Given the description of an element on the screen output the (x, y) to click on. 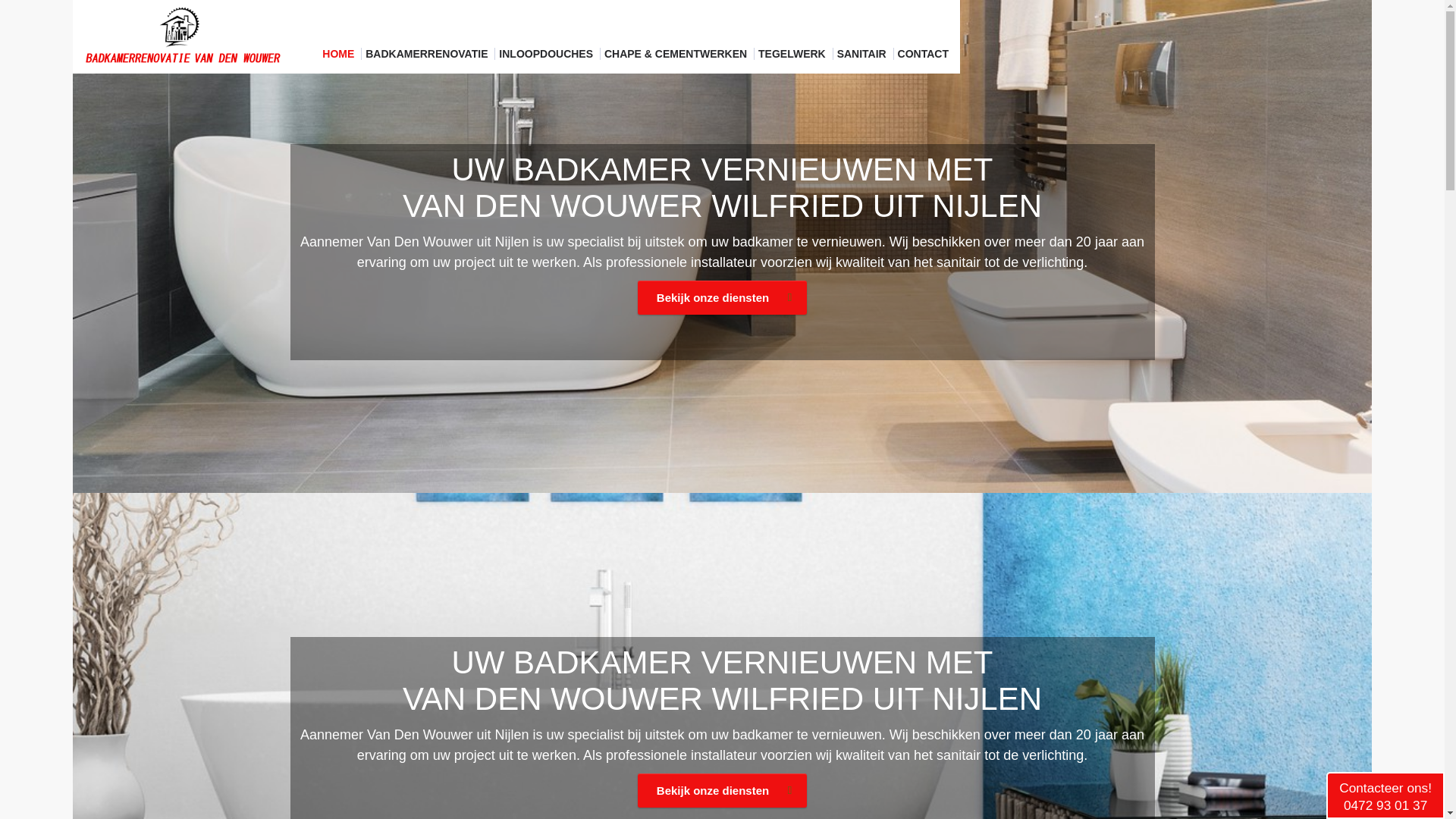
Bekijk onze diensten Element type: text (721, 790)
HOME Element type: text (339, 53)
TEGELWERK Element type: text (793, 53)
INLOOPDOUCHES Element type: text (547, 53)
CHAPE & CEMENTWERKEN Element type: text (676, 53)
CONTACT Element type: text (922, 53)
SANITAIR Element type: text (863, 53)
Bekijk onze diensten Element type: text (721, 297)
BADKAMERRENOVATIE Element type: text (427, 53)
0472 93 01 37 Element type: text (1385, 804)
